Given the description of an element on the screen output the (x, y) to click on. 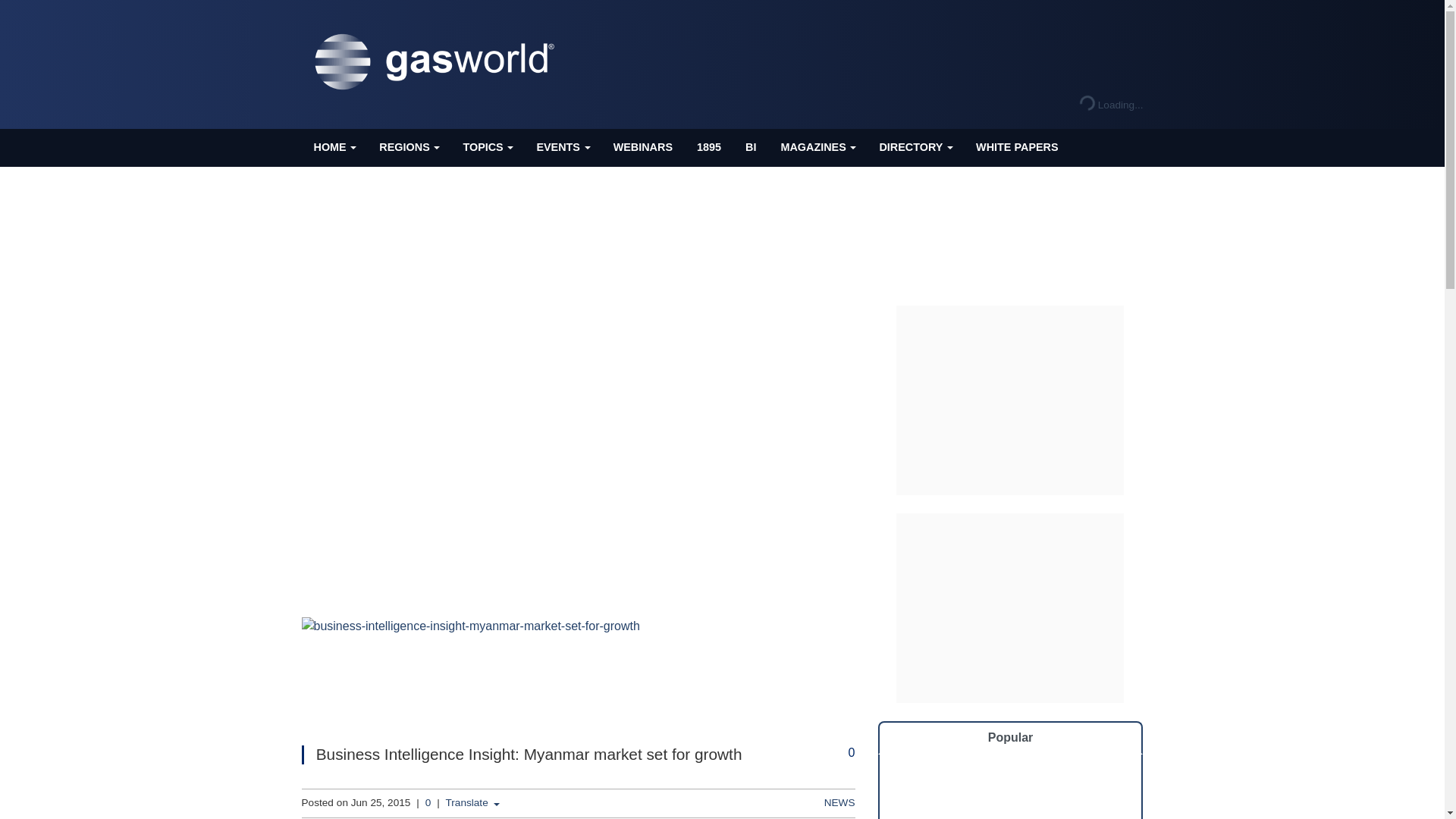
TOPICS (486, 146)
REGIONS (407, 146)
Regions (407, 146)
HOME (334, 146)
Topics (486, 146)
Home (334, 146)
gasworld (438, 62)
